Given the description of an element on the screen output the (x, y) to click on. 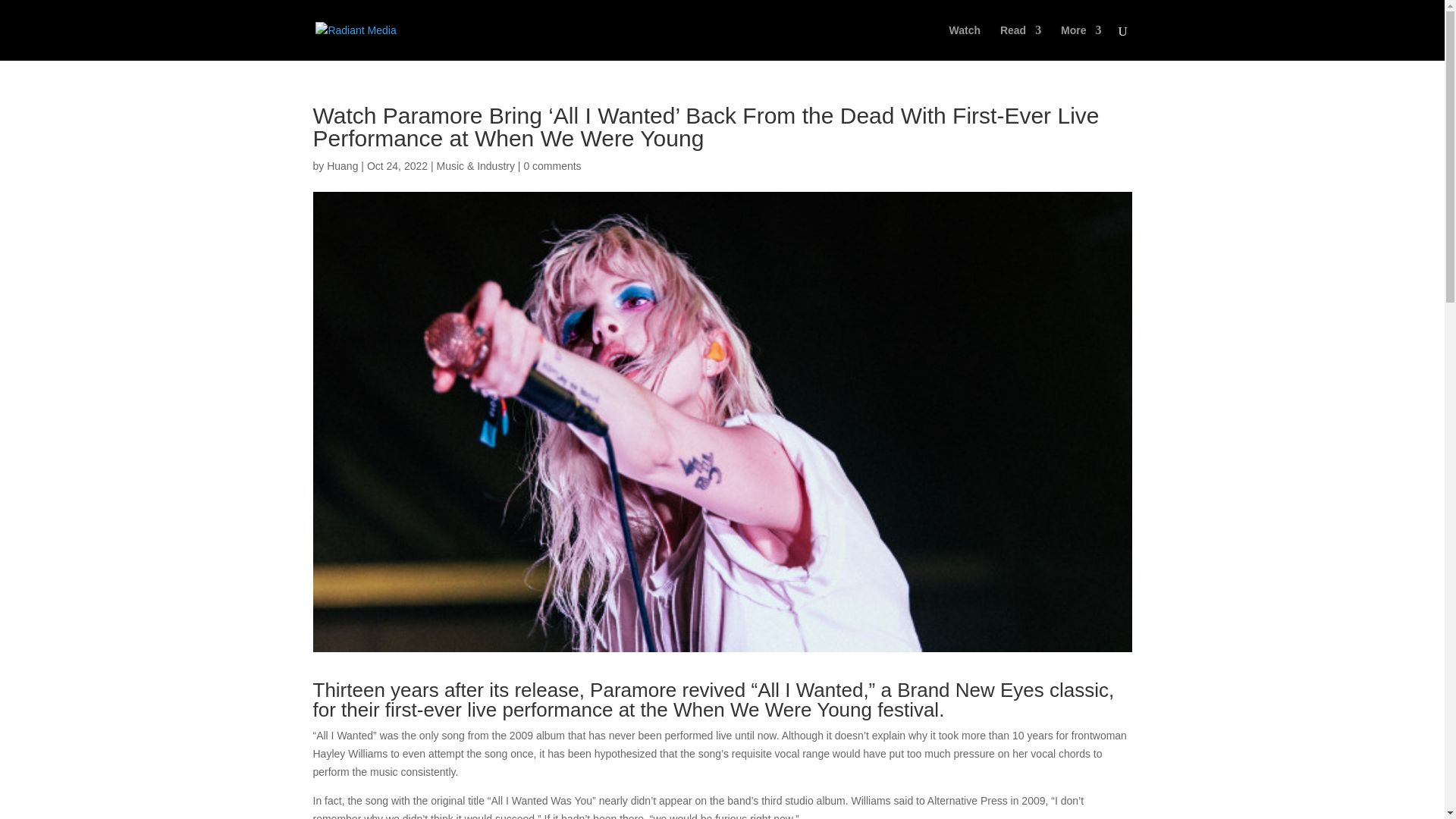
Posts by Huang (342, 165)
Read (1020, 42)
0 comments (551, 165)
Huang (342, 165)
More (1080, 42)
